Given the description of an element on the screen output the (x, y) to click on. 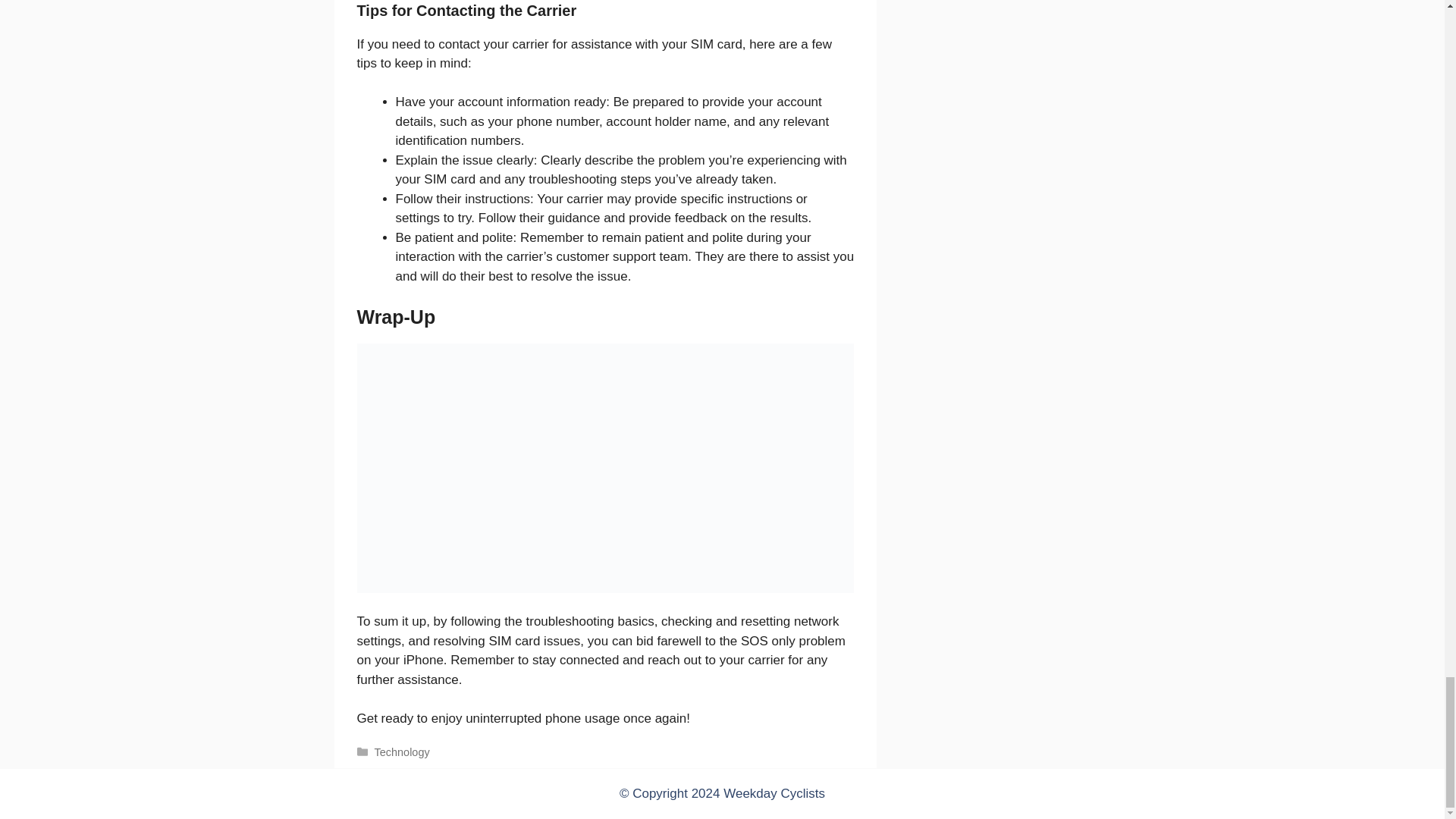
Weekday Cyclists (774, 793)
Technology (401, 752)
Weekday Cyclists (774, 793)
